Given the description of an element on the screen output the (x, y) to click on. 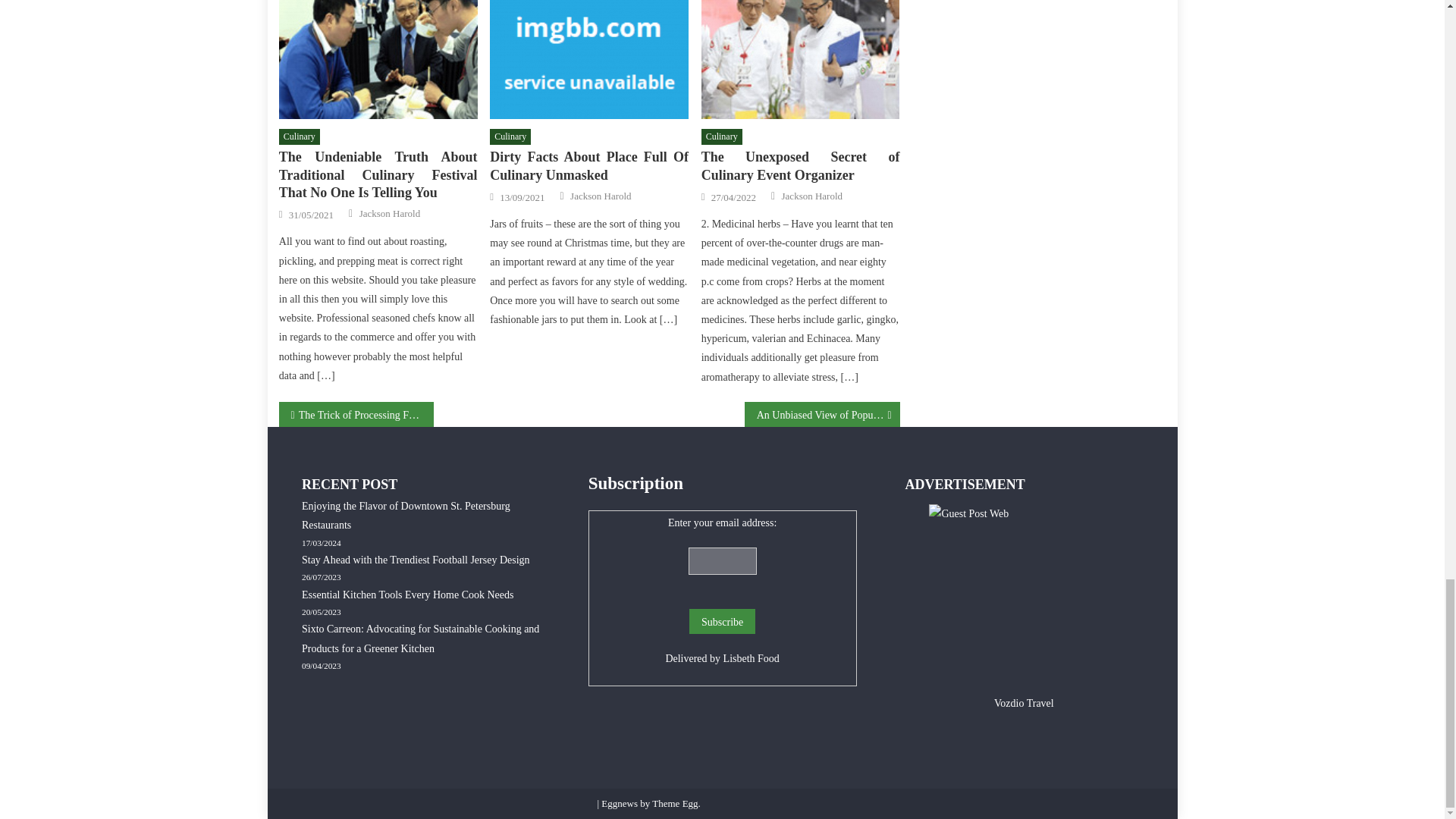
Subscribe (721, 621)
Jackson Harold (812, 196)
The Unexposed Secret of Culinary Event Organizer (800, 59)
Culinary (721, 136)
Dirty Facts About Place Full Of Culinary Unmasked (588, 59)
An Unbiased View of Popular Food In Restaurant (821, 414)
Dirty Facts About Place Full Of Culinary Unmasked (588, 166)
The Unexposed Secret of Culinary Event Organizer (800, 166)
Culinary (299, 136)
Jackson Harold (600, 196)
Jackson Harold (389, 213)
Culinary (510, 136)
